Given the description of an element on the screen output the (x, y) to click on. 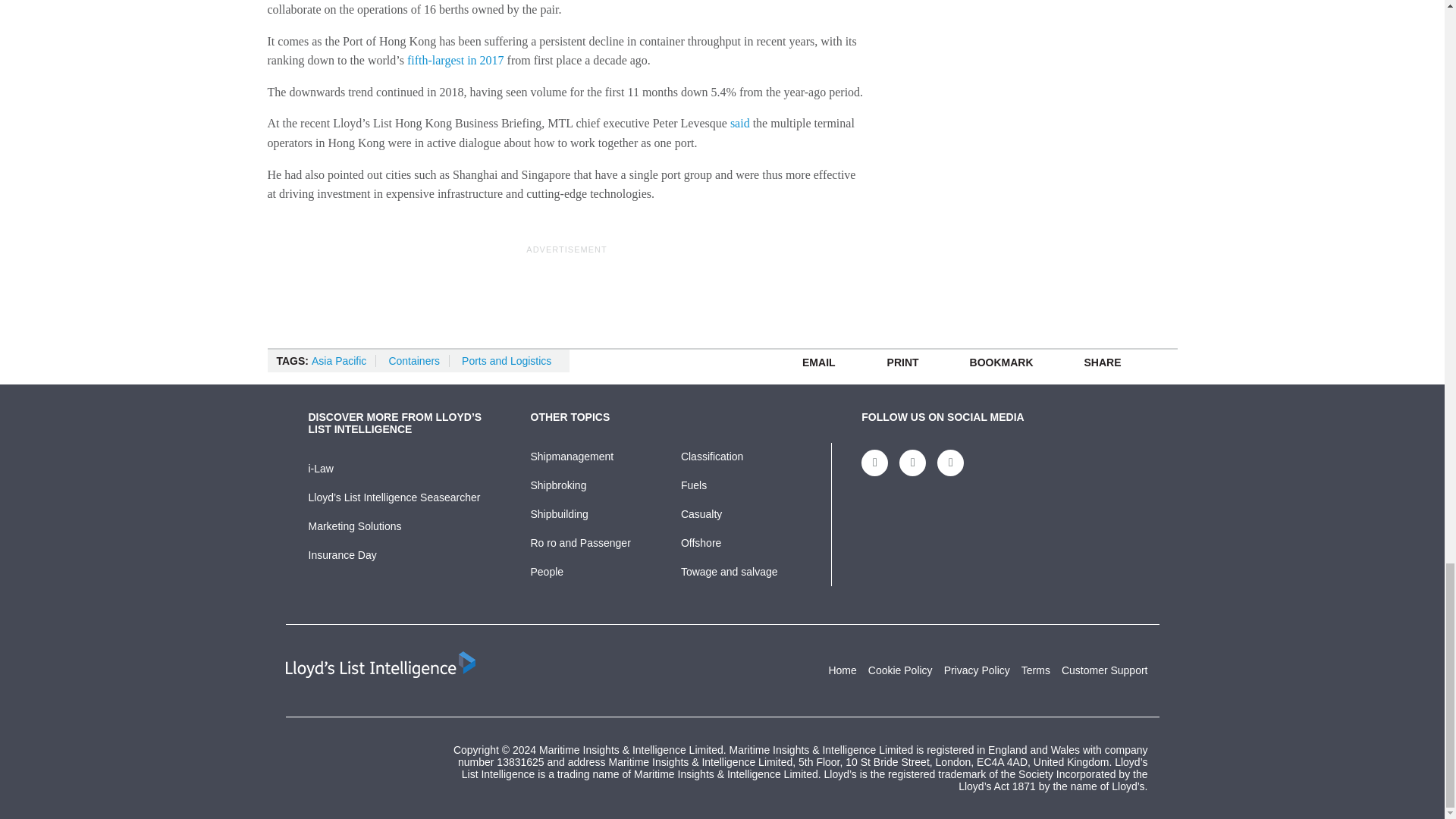
3rd party ad content (567, 291)
